Given the description of an element on the screen output the (x, y) to click on. 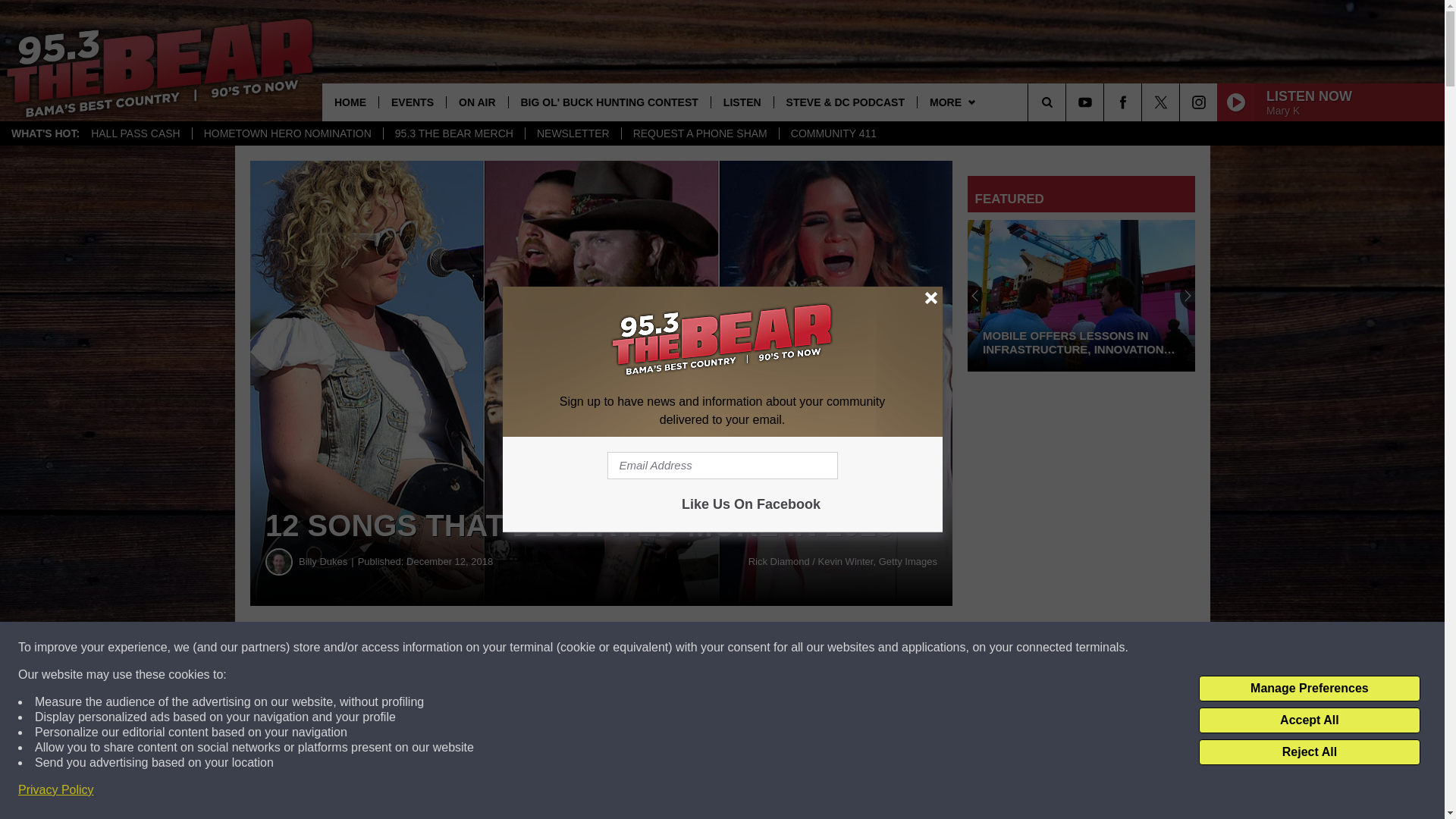
Email Address (722, 465)
HOME (349, 102)
LISTEN (741, 102)
REQUEST A PHONE SHAM (699, 133)
Share on Facebook (460, 647)
Reject All (1309, 751)
Share on Twitter (741, 647)
BIG OL' BUCK HUNTING CONTEST (609, 102)
ON AIR (475, 102)
SEARCH (1068, 102)
NEWSLETTER (572, 133)
HOMETOWN HERO NOMINATION (287, 133)
Accept All (1309, 720)
Manage Preferences (1309, 688)
95.3 THE BEAR MERCH (453, 133)
